Given the description of an element on the screen output the (x, y) to click on. 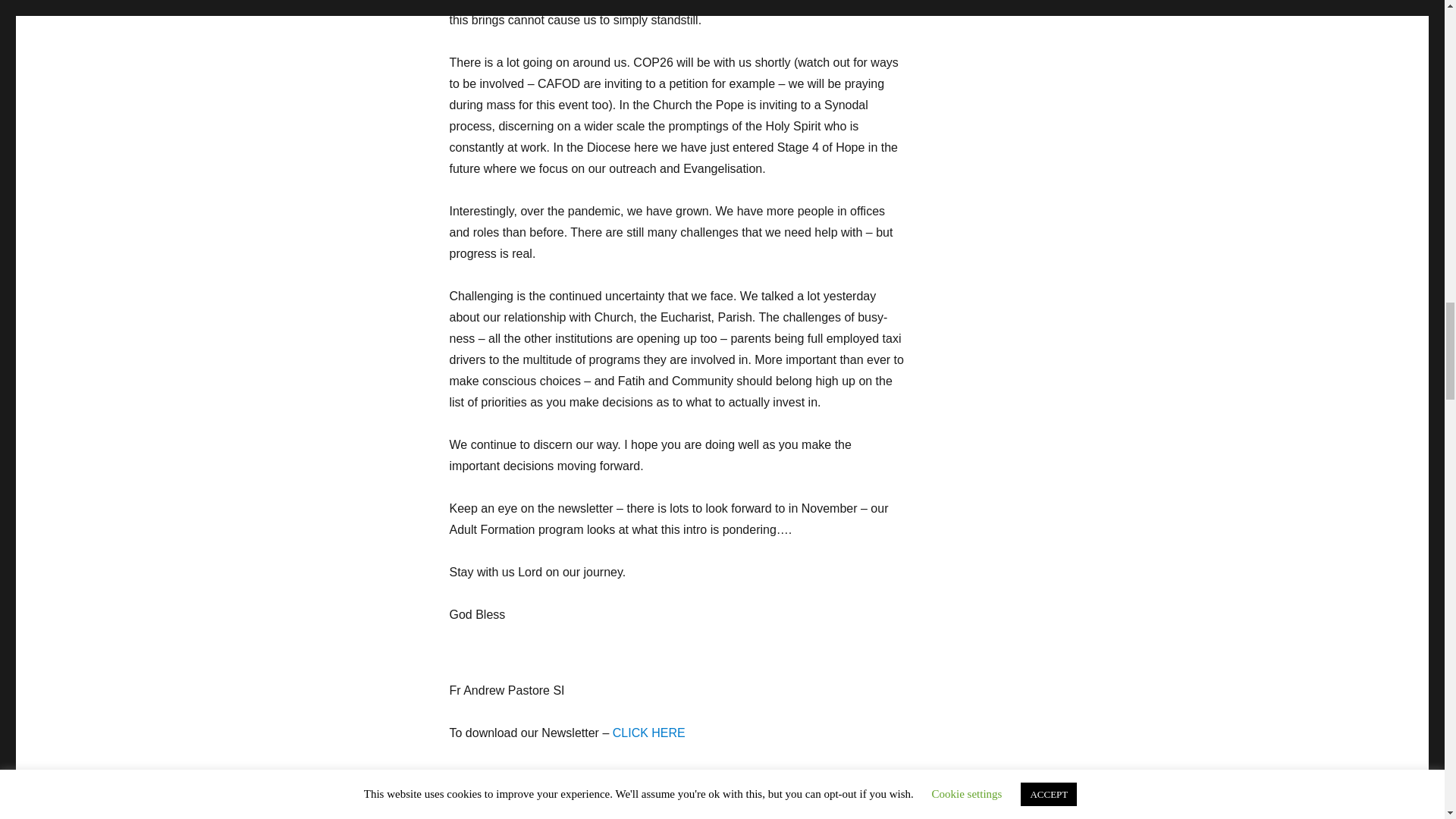
CLICK HERE (669, 775)
CLICK HERE (648, 732)
